Given the description of an element on the screen output the (x, y) to click on. 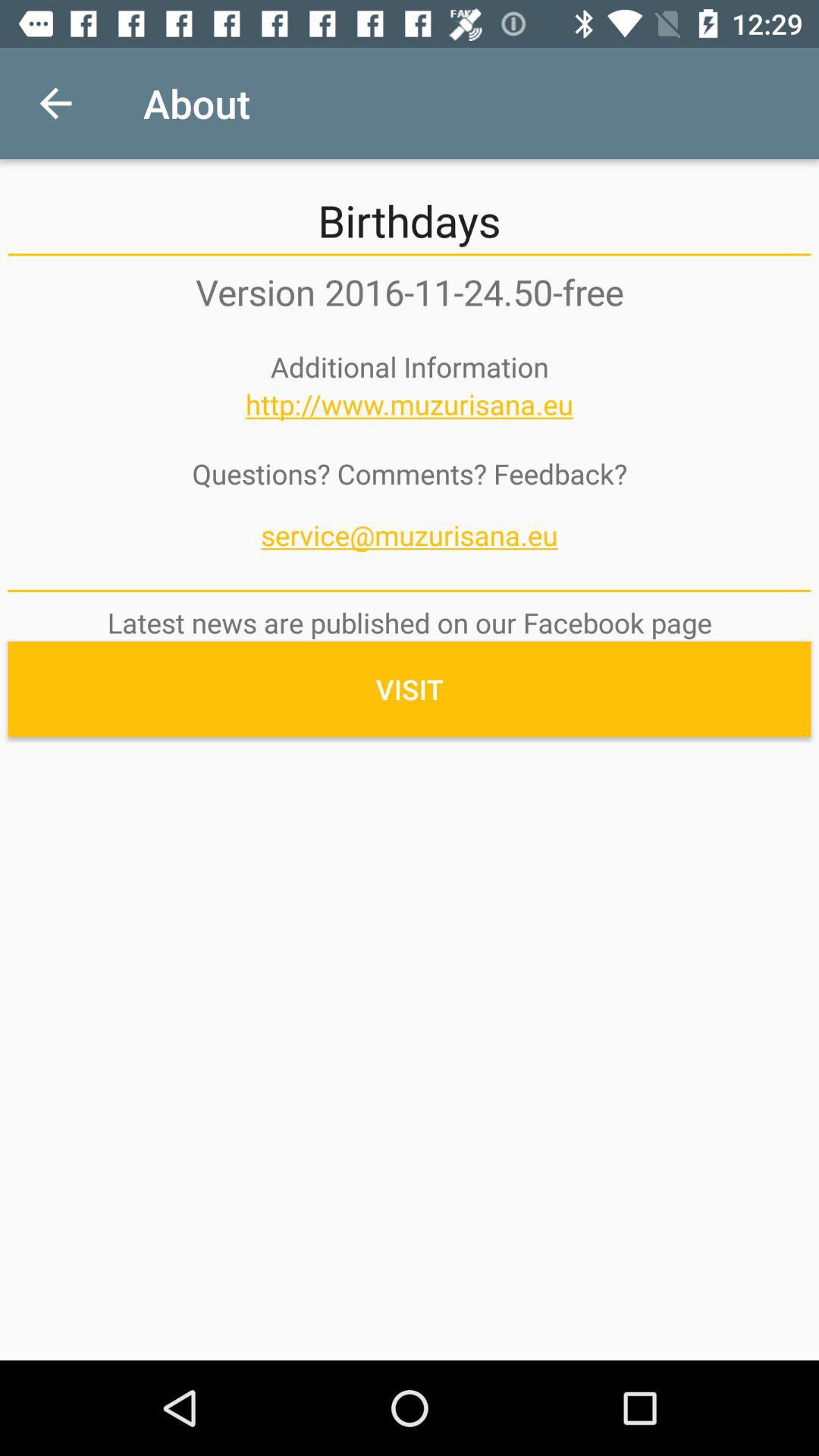
click the item above questions? comments? feedback? icon (409, 404)
